Given the description of an element on the screen output the (x, y) to click on. 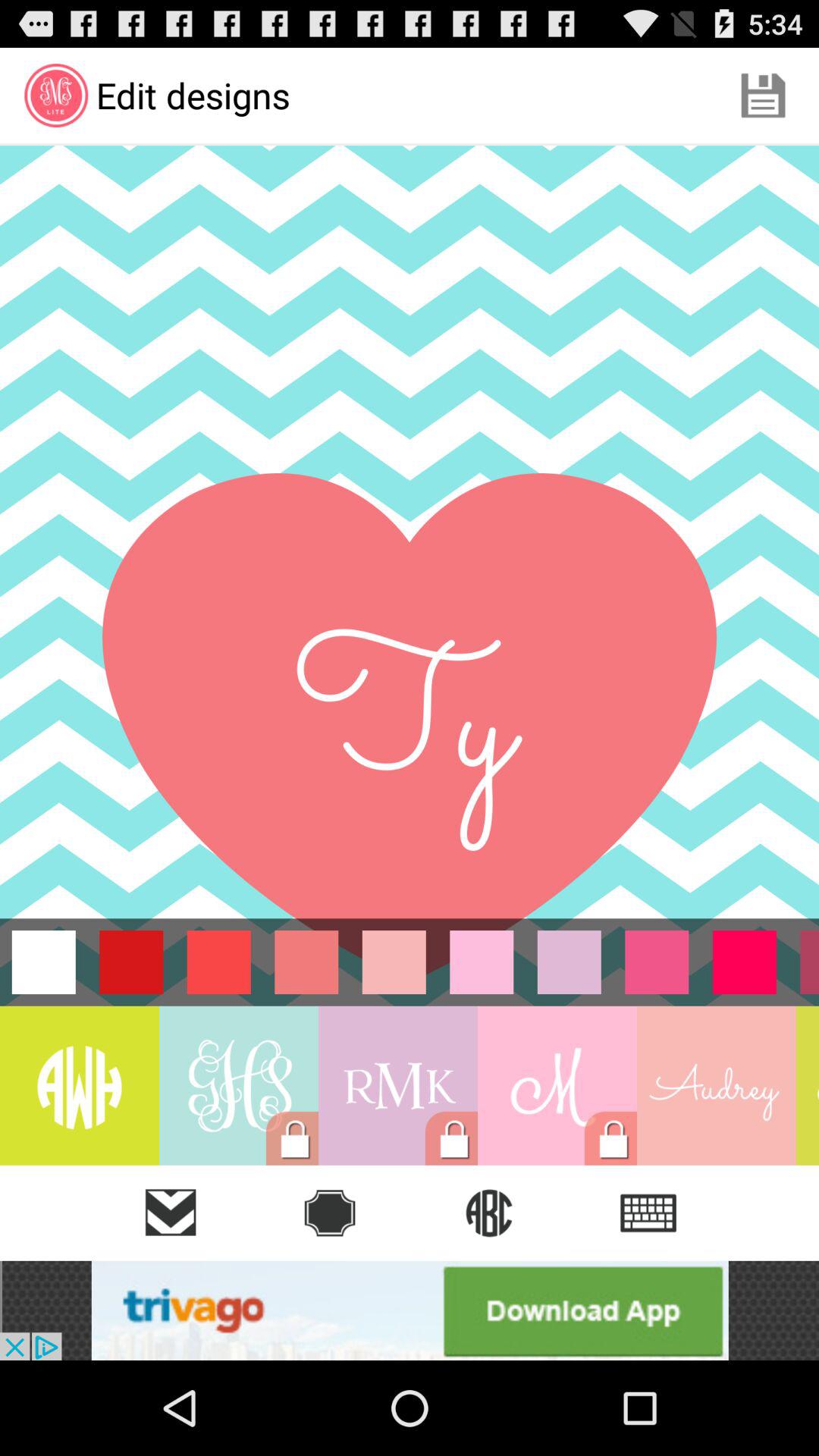
click on rmk (397, 1086)
select audrey (716, 1086)
click on the option keyboard (648, 1213)
click on the image m left to audrey (557, 1086)
select on rmk lock icon box which is left side of m symbol (397, 1086)
select the text which is locked and colored with blue color (238, 1086)
